Given the description of an element on the screen output the (x, y) to click on. 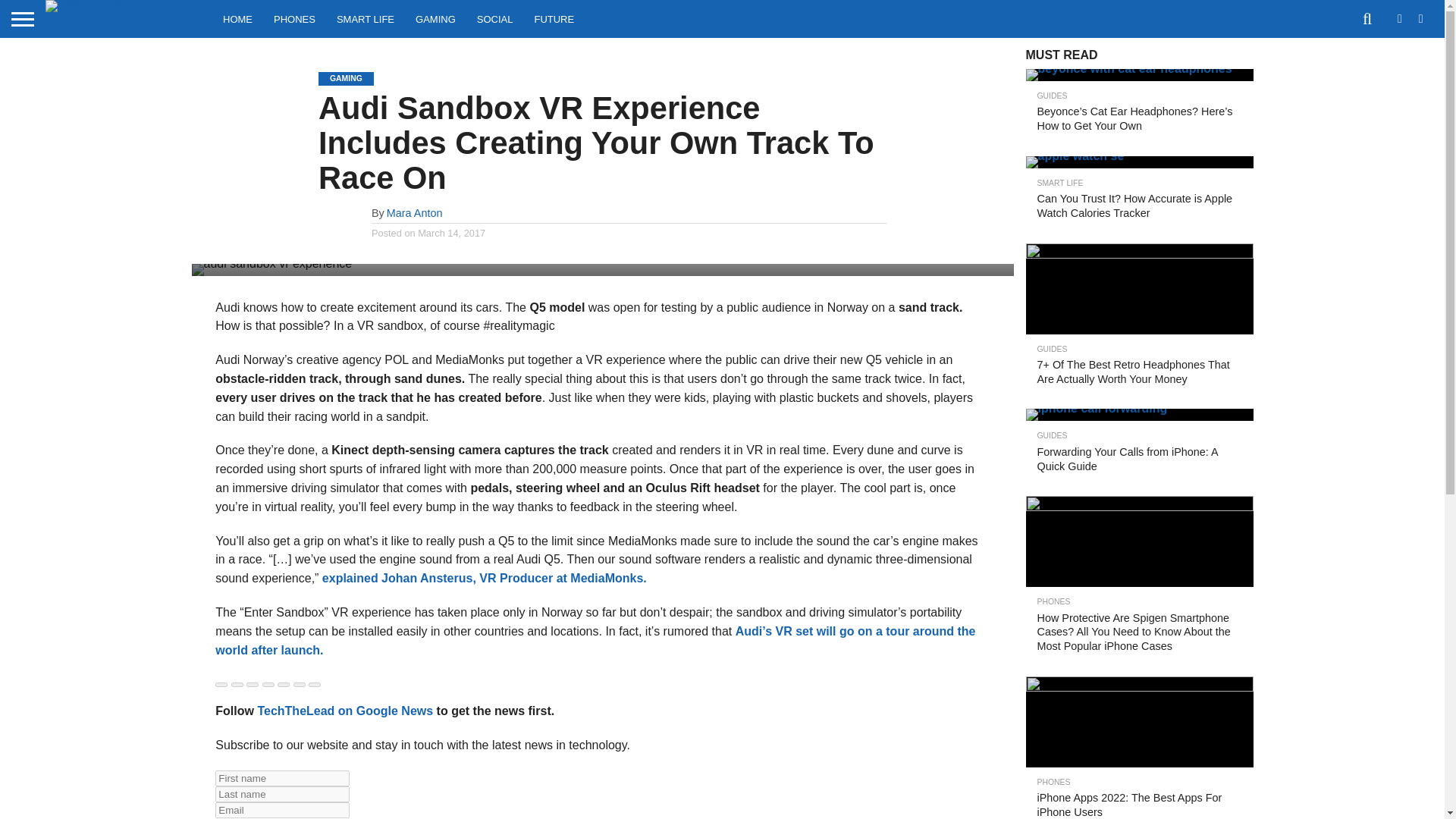
SMART LIFE (365, 18)
PHONES (294, 18)
HOME (237, 18)
Posts by Mara Anton (414, 213)
SOCIAL (494, 18)
FUTURE (553, 18)
GAMING (434, 18)
